Given the description of an element on the screen output the (x, y) to click on. 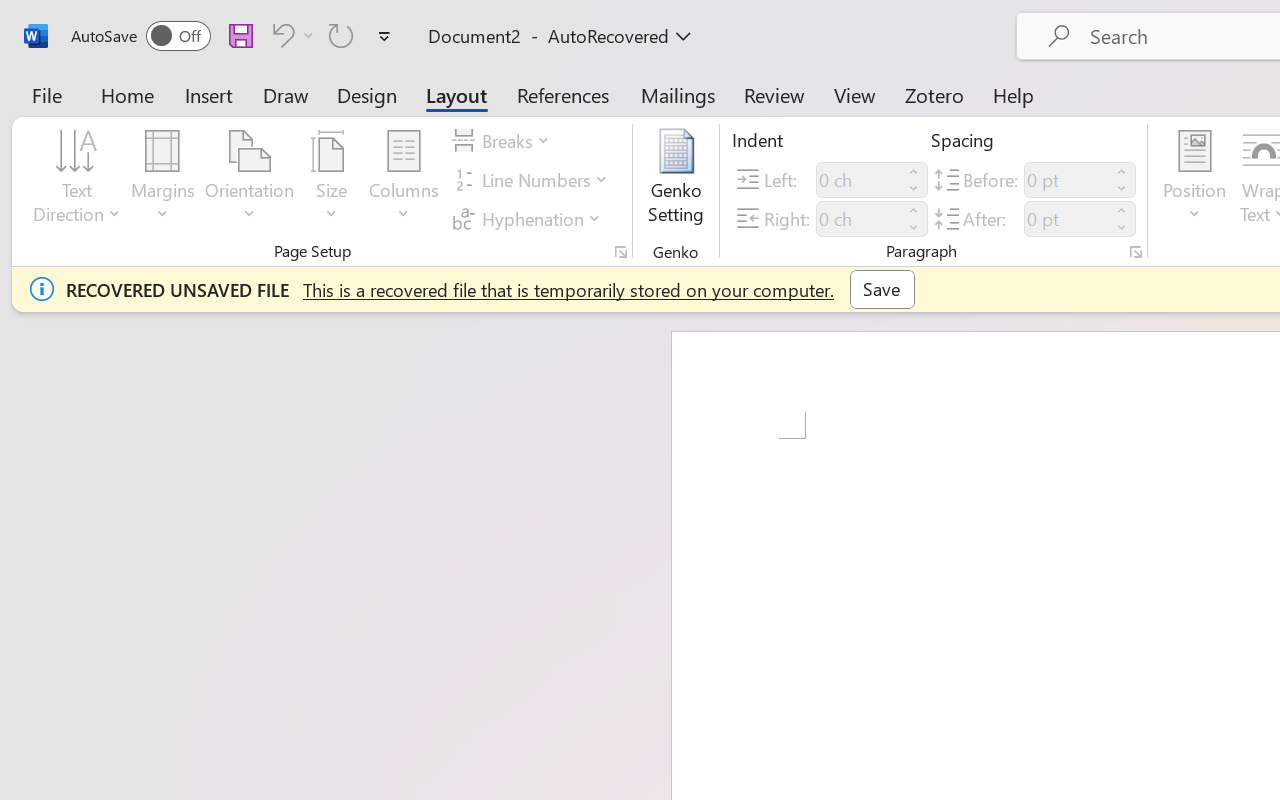
Can't Undo (280, 35)
Genko Setting... (676, 179)
Indent Right (858, 218)
Indent Left (858, 179)
Spacing Before (1066, 179)
